Given the description of an element on the screen output the (x, y) to click on. 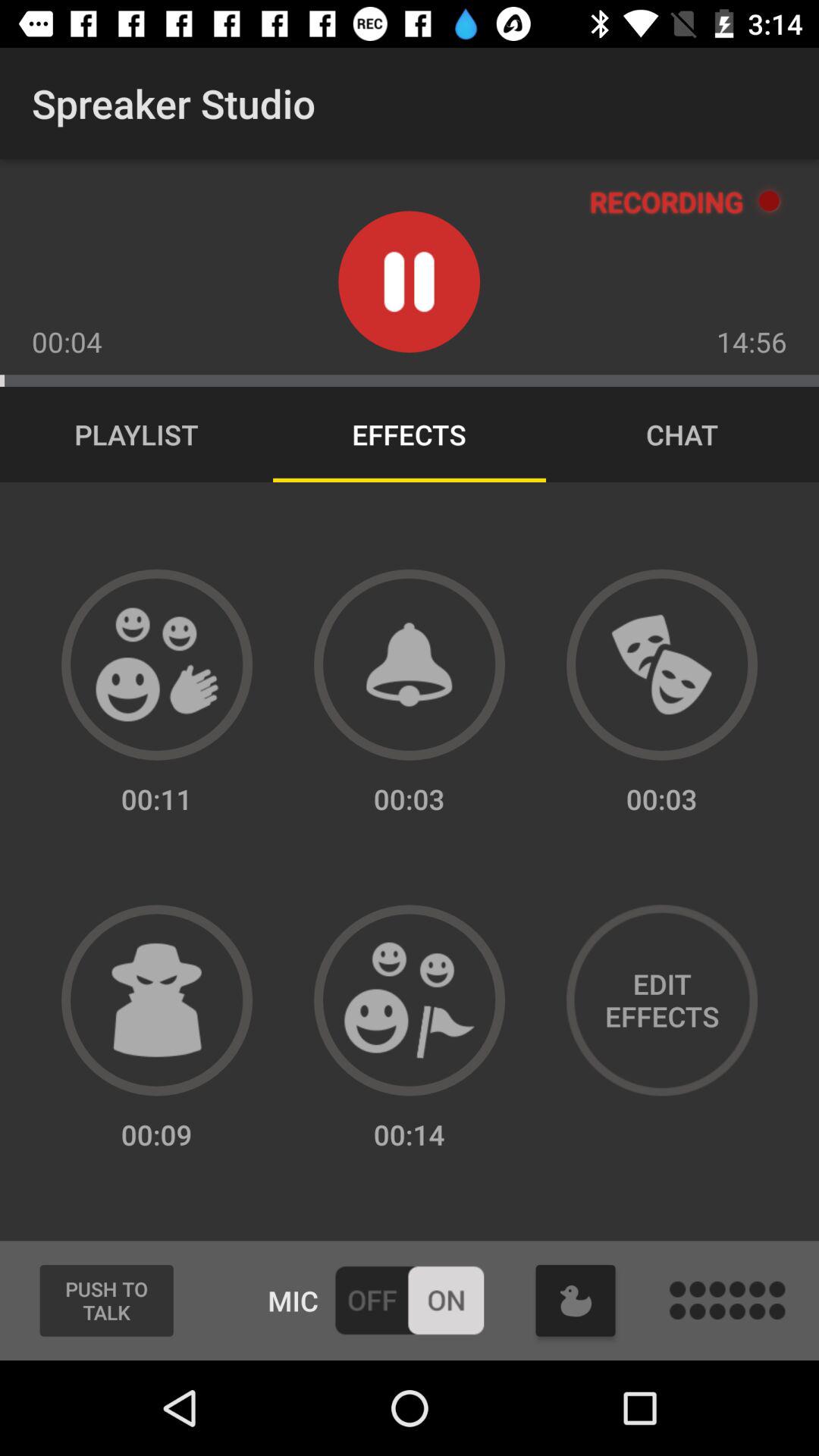
jump to push to
talk (106, 1300)
